Given the description of an element on the screen output the (x, y) to click on. 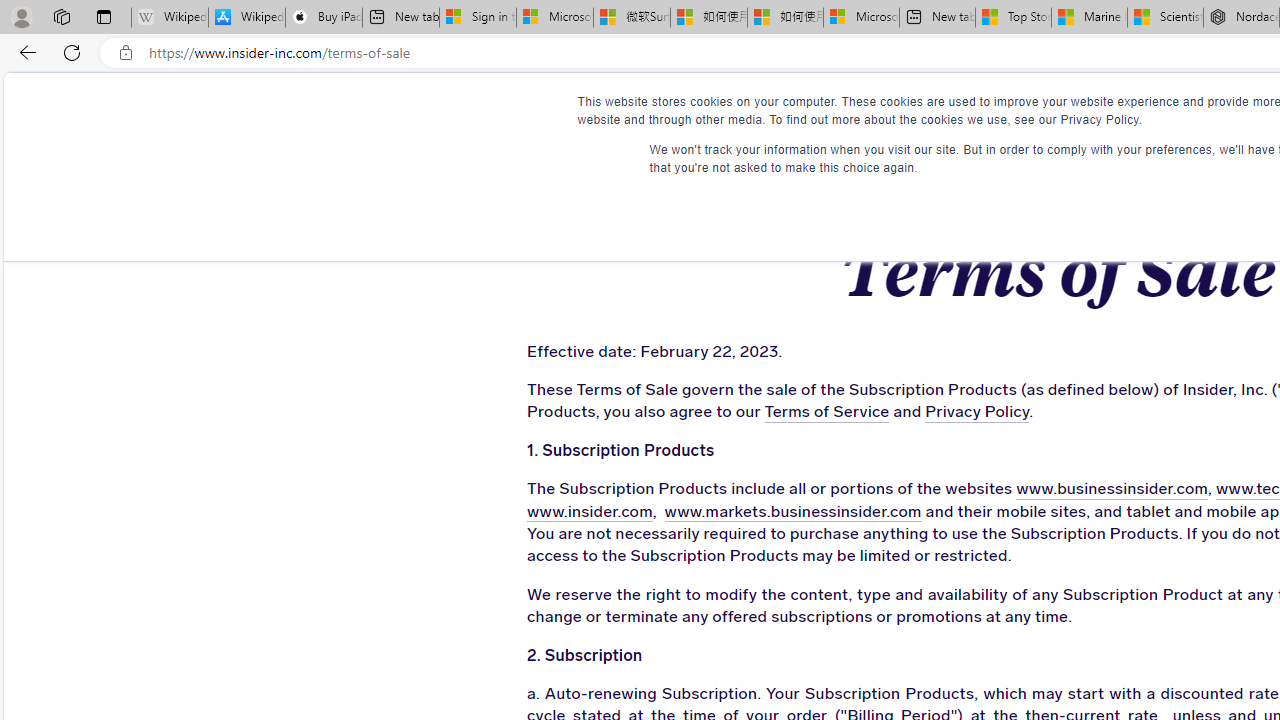
www.businessinsider.com (1112, 489)
Privacy Policy (977, 412)
WHAT WE DO (458, 110)
WHO WE ARE (610, 110)
Terms of Service (826, 412)
Insider Inc. (1056, 111)
